Given the description of an element on the screen output the (x, y) to click on. 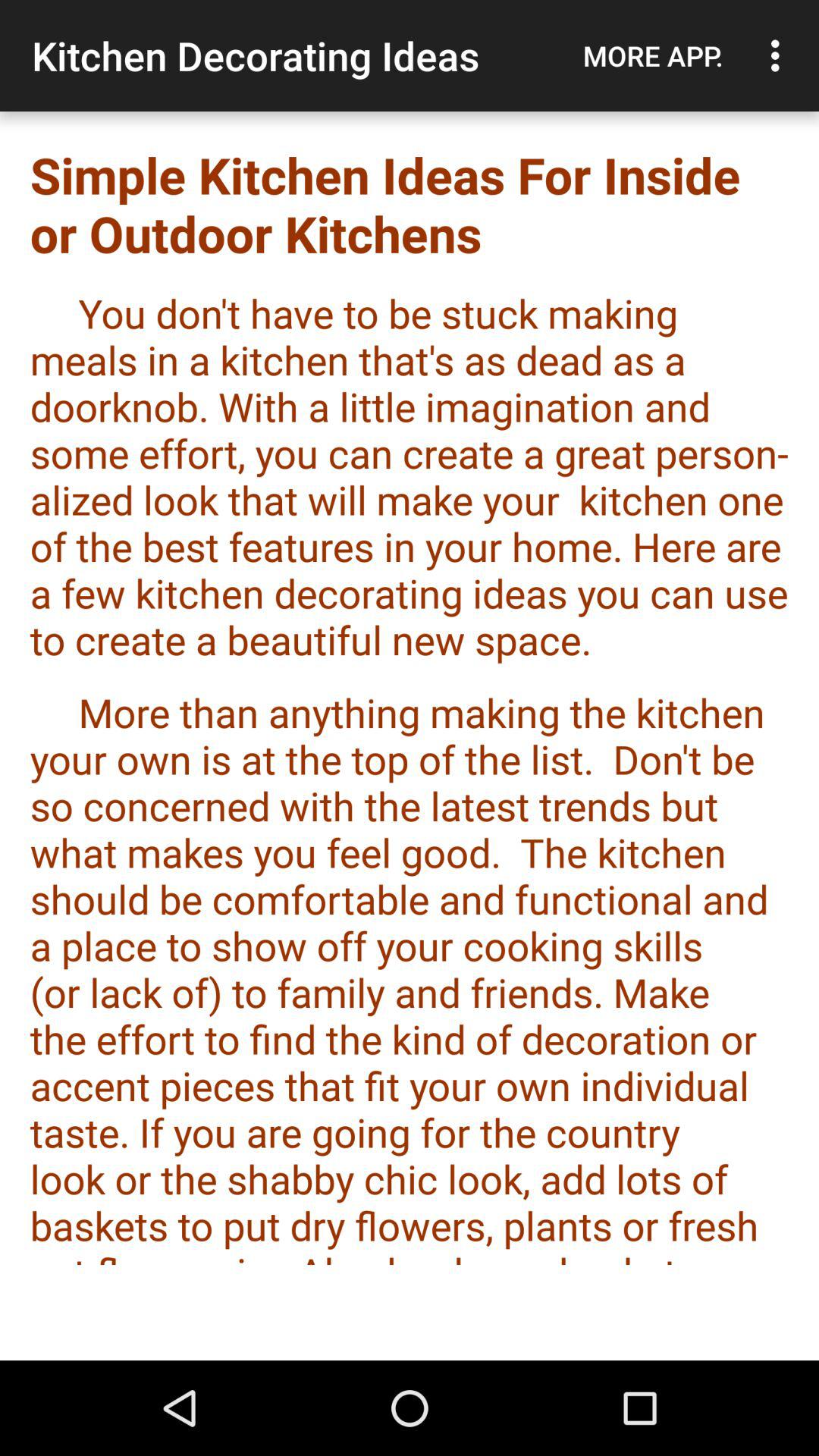
swipe until more app. icon (653, 55)
